Given the description of an element on the screen output the (x, y) to click on. 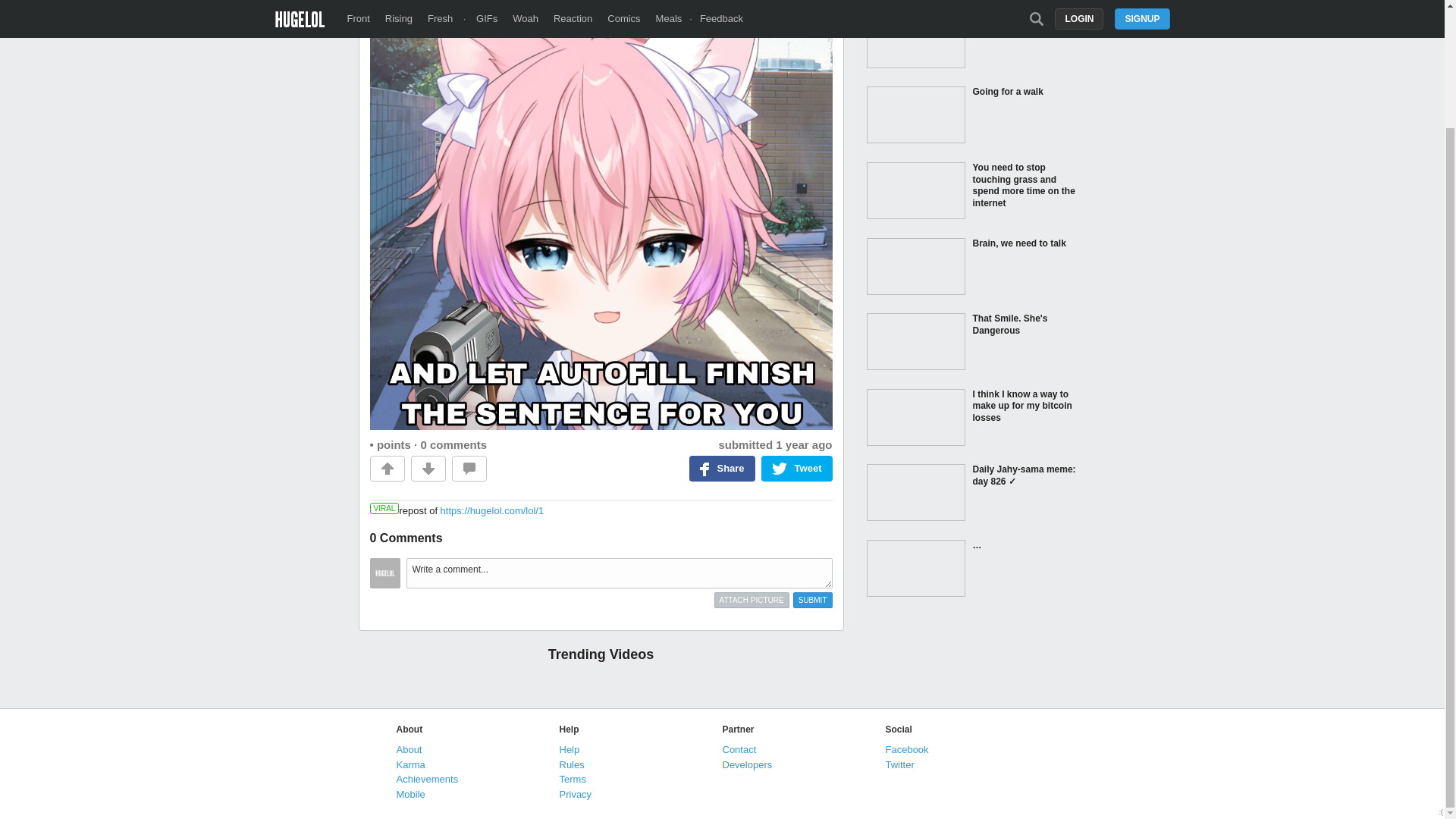
2022-12-09T01:15:05-05:00 (803, 444)
Going for a walk (972, 116)
That Smile. She's Dangerous (972, 343)
Who Framed Roger Rabbit on Laserdisc (972, 41)
I think I know a way to make up for my bitcoin losses (972, 419)
Brain, we need to talk (972, 268)
0 comments (453, 444)
